Given the description of an element on the screen output the (x, y) to click on. 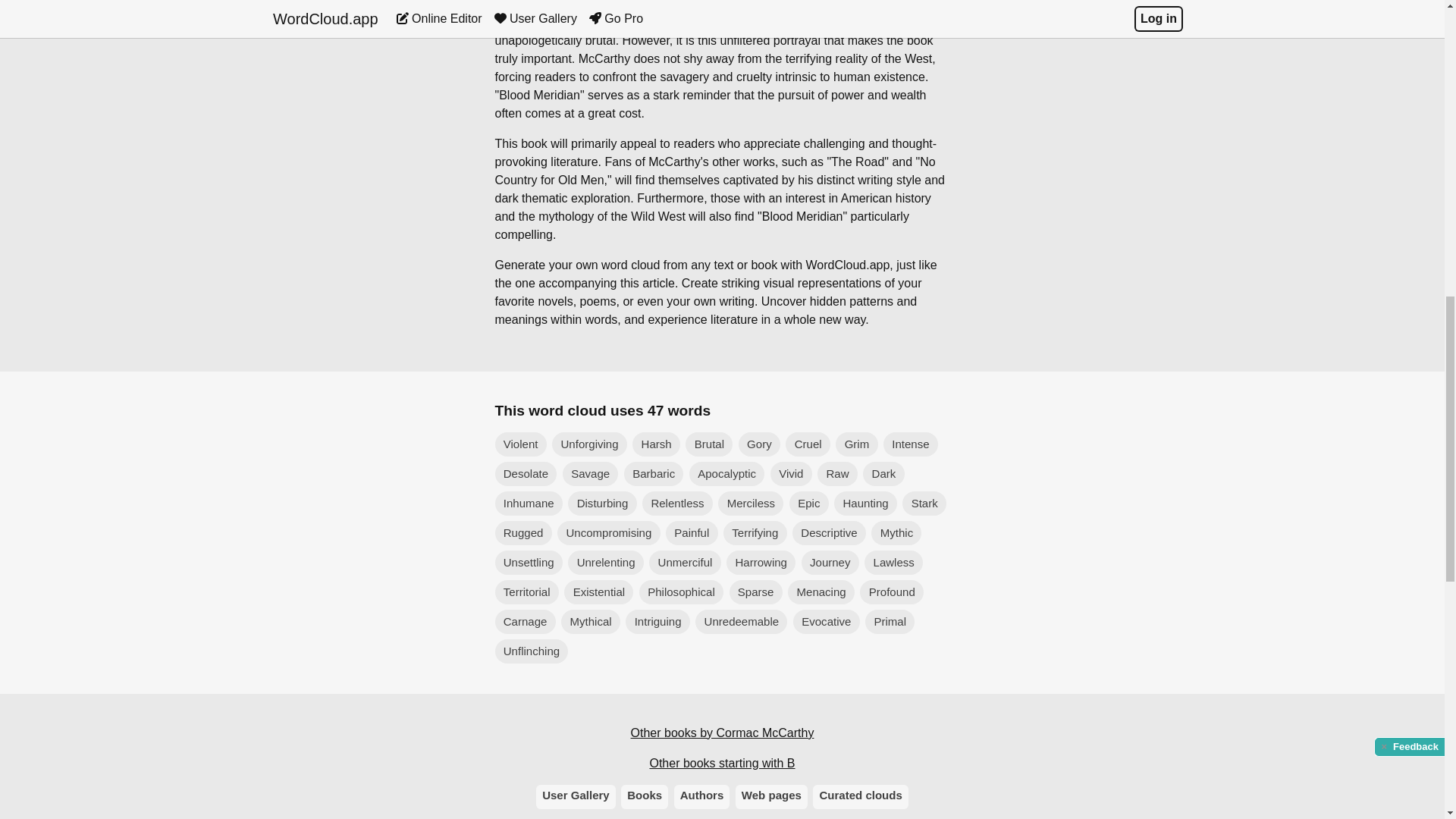
Curated clouds (859, 796)
Web pages (771, 796)
Authors (702, 796)
Books (644, 796)
Other books starting with B (721, 763)
User Gallery (575, 796)
Other books by Cormac McCarthy (721, 732)
